Given the description of an element on the screen output the (x, y) to click on. 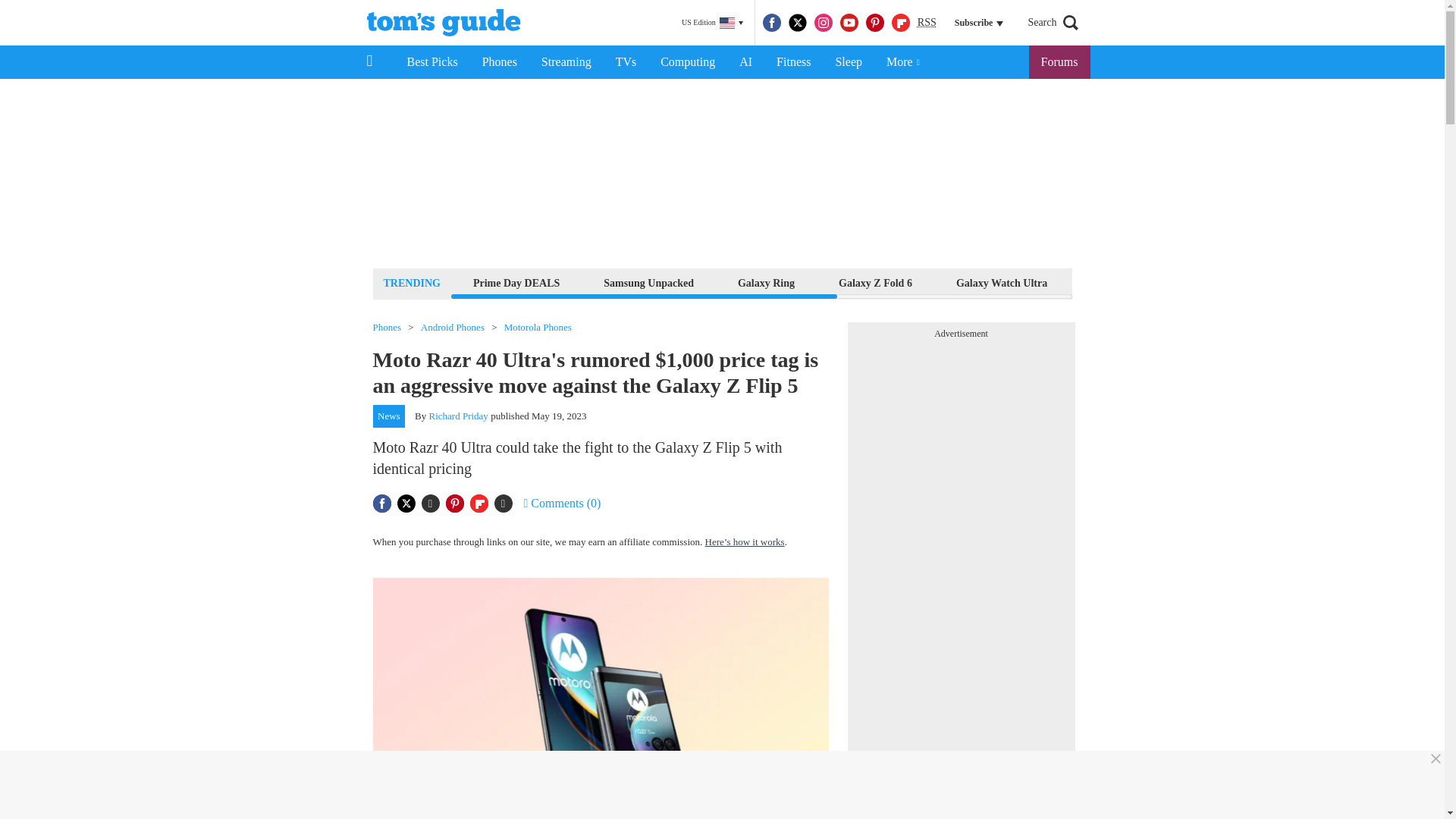
US Edition (712, 22)
Computing (686, 61)
Fitness (793, 61)
AI (745, 61)
Streaming (566, 61)
Phones (499, 61)
Sleep (848, 61)
TVs (626, 61)
RSS (926, 22)
Best Picks (431, 61)
Really Simple Syndication (926, 21)
